Given the description of an element on the screen output the (x, y) to click on. 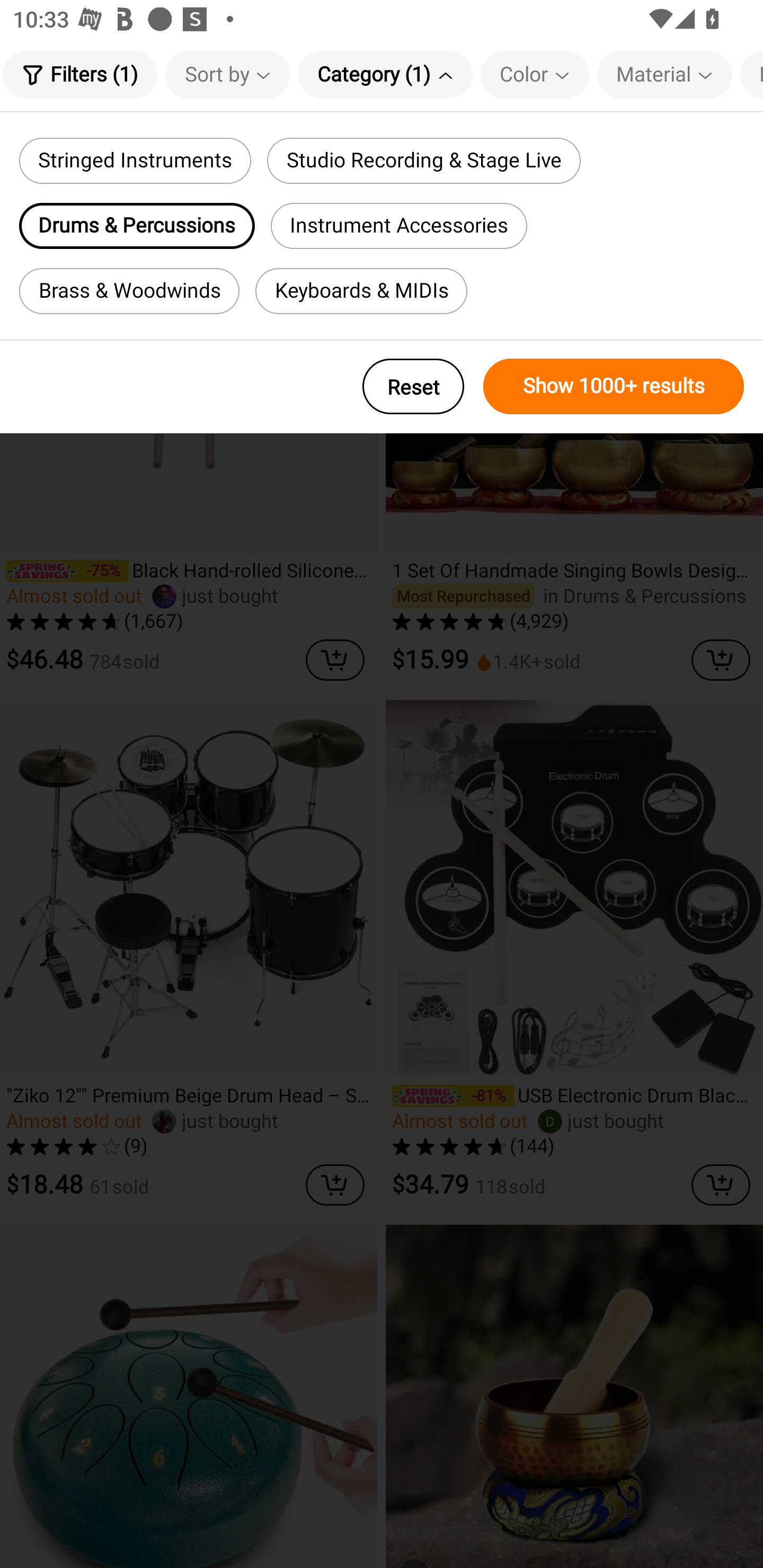
Filters (1) (79, 74)
Sort by (227, 74)
Category (1) (385, 74)
Color (534, 74)
Material (664, 74)
Stringed Instruments (135, 160)
Studio Recording & Stage Live (423, 160)
Drums & Percussions (136, 225)
Instrument Accessories (398, 225)
Brass & Woodwinds (129, 290)
Keyboards & MIDIs (360, 290)
Reset (412, 386)
Show 1000+ results (612, 386)
